Given the description of an element on the screen output the (x, y) to click on. 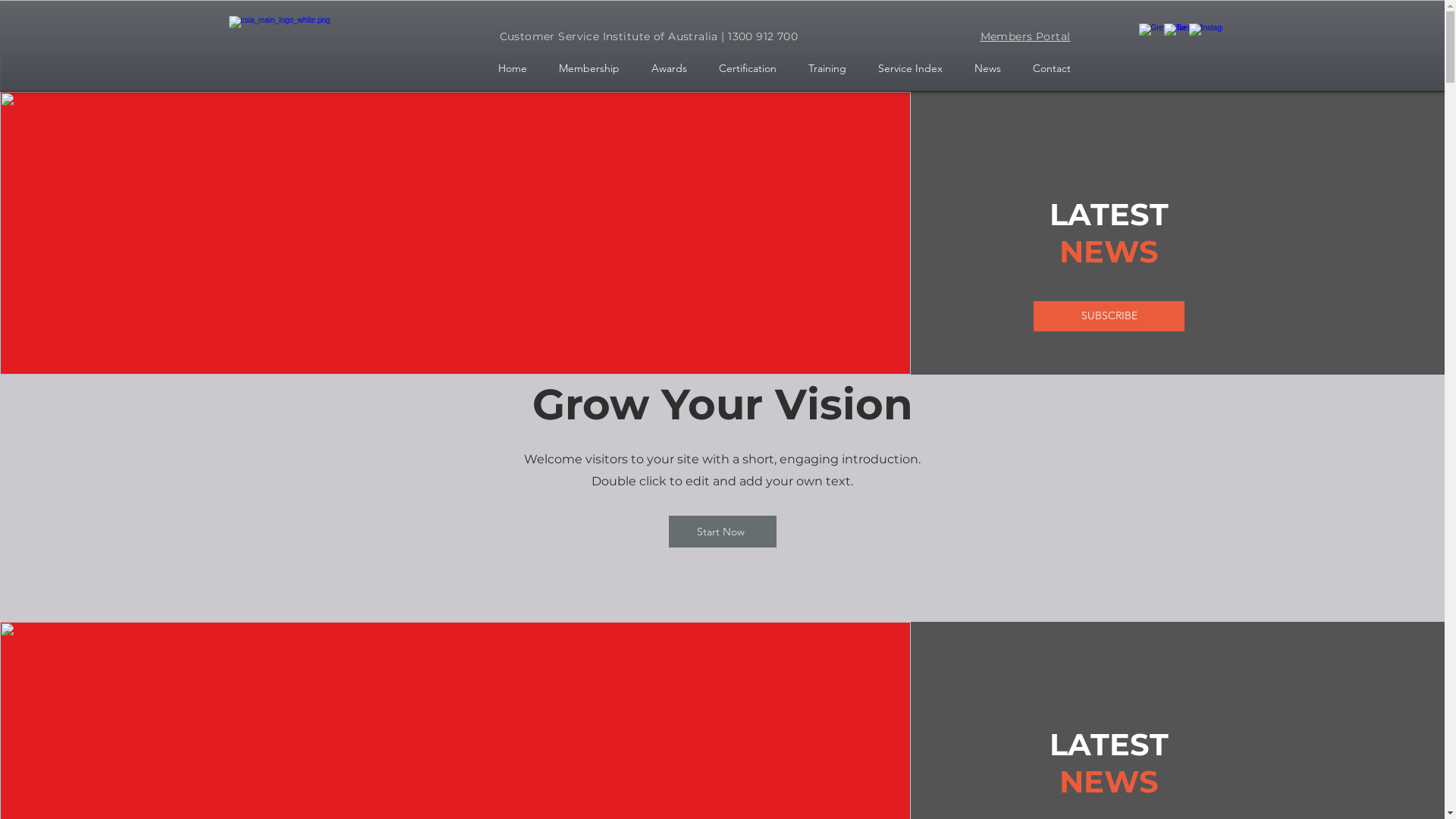
Training Element type: text (826, 68)
Start Now Element type: text (722, 531)
SUBSCRIBE Element type: text (1108, 316)
Members Portal Element type: text (1024, 36)
Certification Element type: text (746, 68)
Service Index Element type: text (909, 68)
Membership Element type: text (588, 68)
News Element type: text (987, 68)
Awards Element type: text (668, 68)
Home Element type: text (512, 68)
Contact Element type: text (1050, 68)
